Given the description of an element on the screen output the (x, y) to click on. 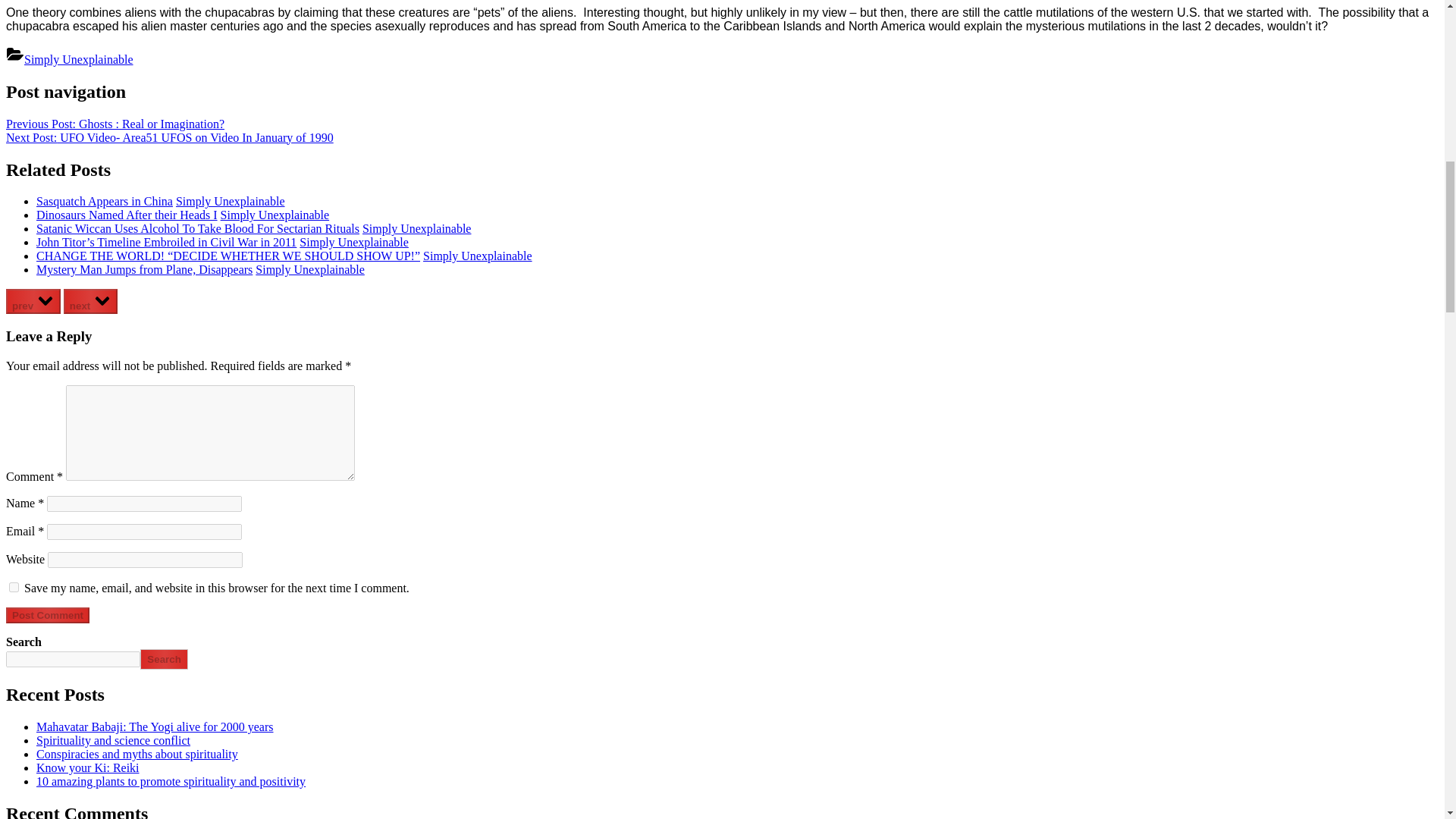
Simply Unexplainable (477, 255)
Simply Unexplainable (354, 241)
Simply Unexplainable (275, 214)
Dinosaurs Named After their Heads I (126, 214)
Simply Unexplainable (416, 228)
prev (33, 301)
Sasquatch Appears in China (104, 201)
Mystery Man Jumps from Plane, Disappears (143, 269)
Simply Unexplainable (230, 201)
